Given the description of an element on the screen output the (x, y) to click on. 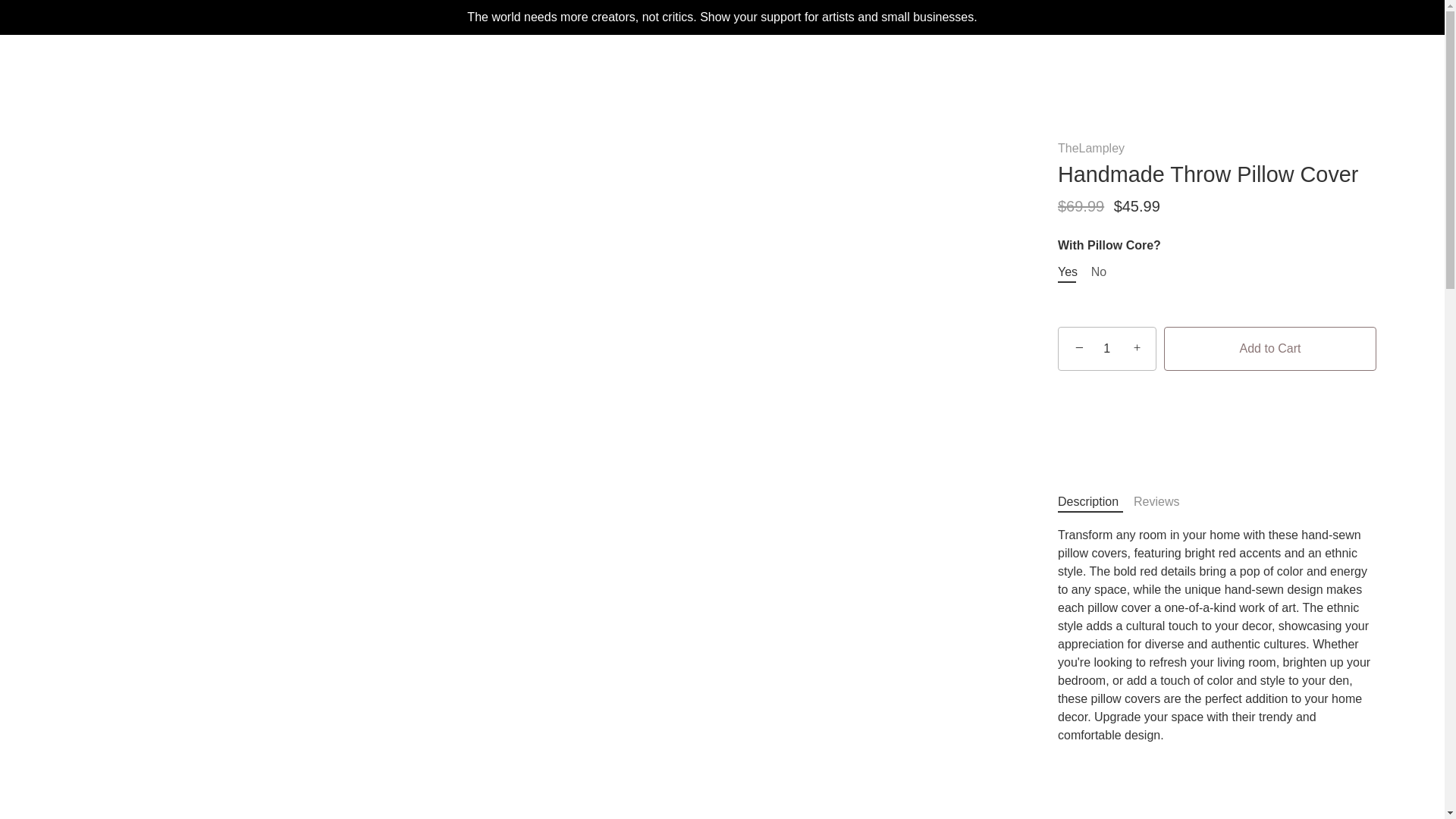
No (1098, 271)
TheLampley (1091, 147)
Textiles (729, 66)
Add to Cart (1269, 348)
Yes (1067, 271)
Our Story (928, 66)
Reviews (1156, 501)
Account (1334, 66)
Cart (1410, 62)
Description (1088, 501)
